Given the description of an element on the screen output the (x, y) to click on. 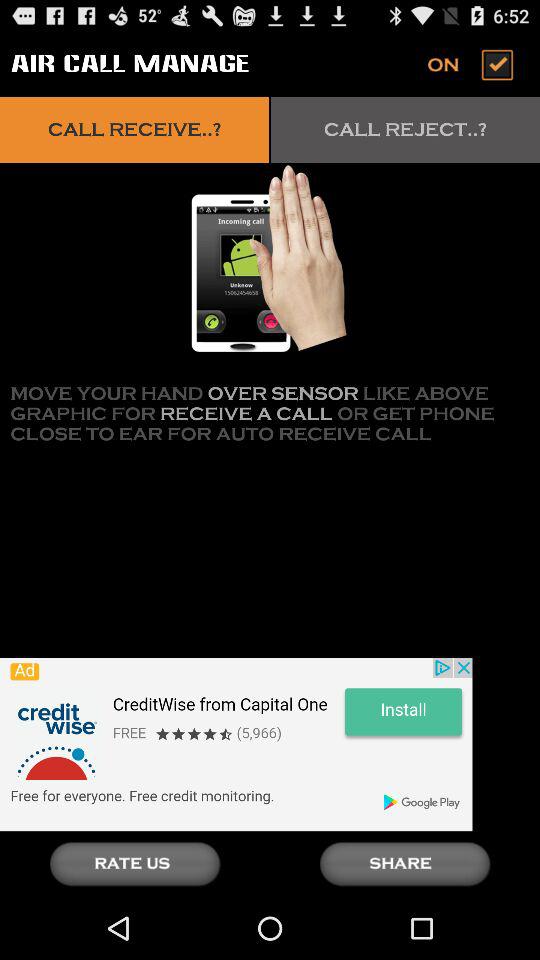
share the app (405, 863)
